Given the description of an element on the screen output the (x, y) to click on. 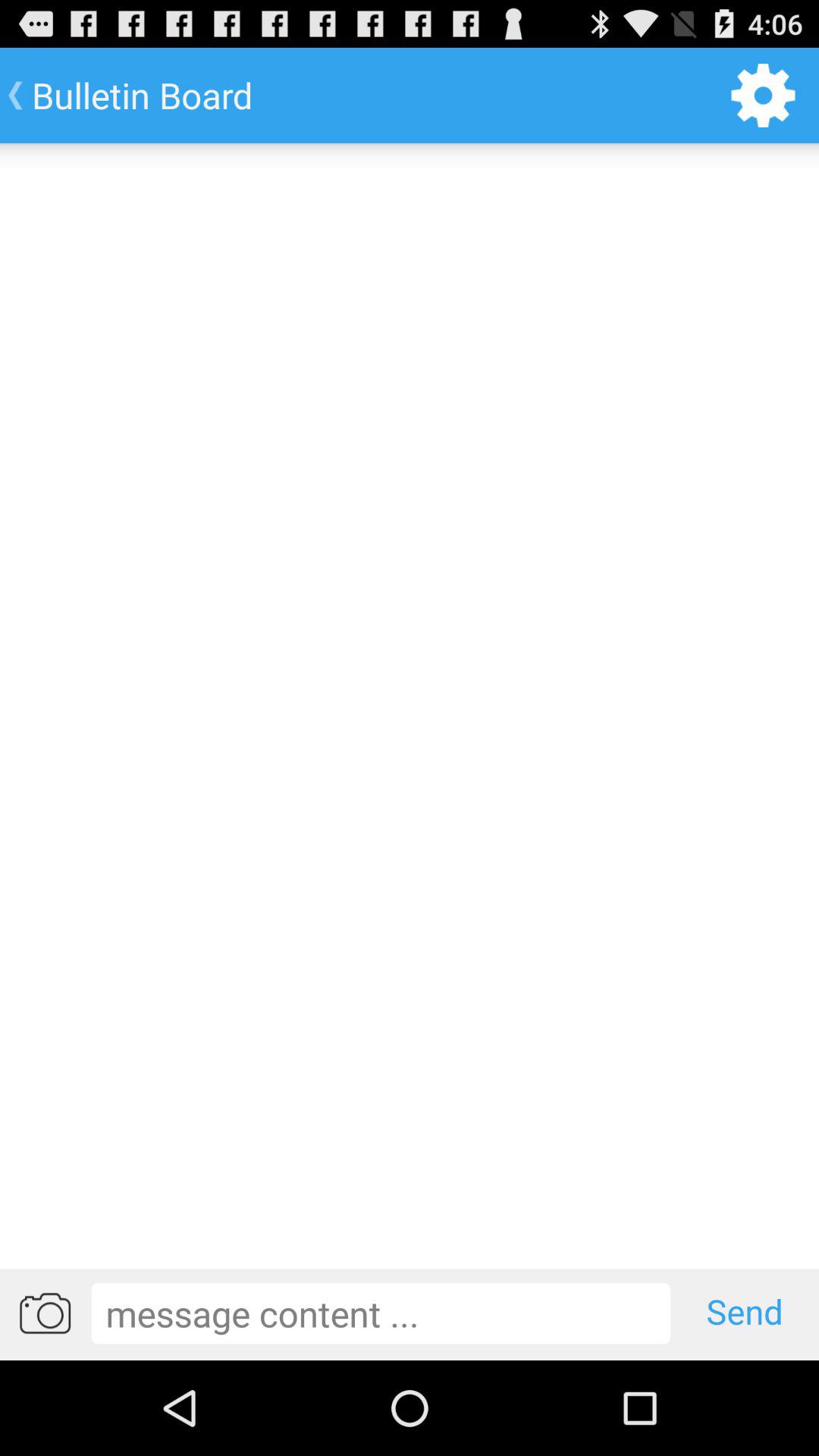
launch the app next to bulletin board icon (763, 95)
